Given the description of an element on the screen output the (x, y) to click on. 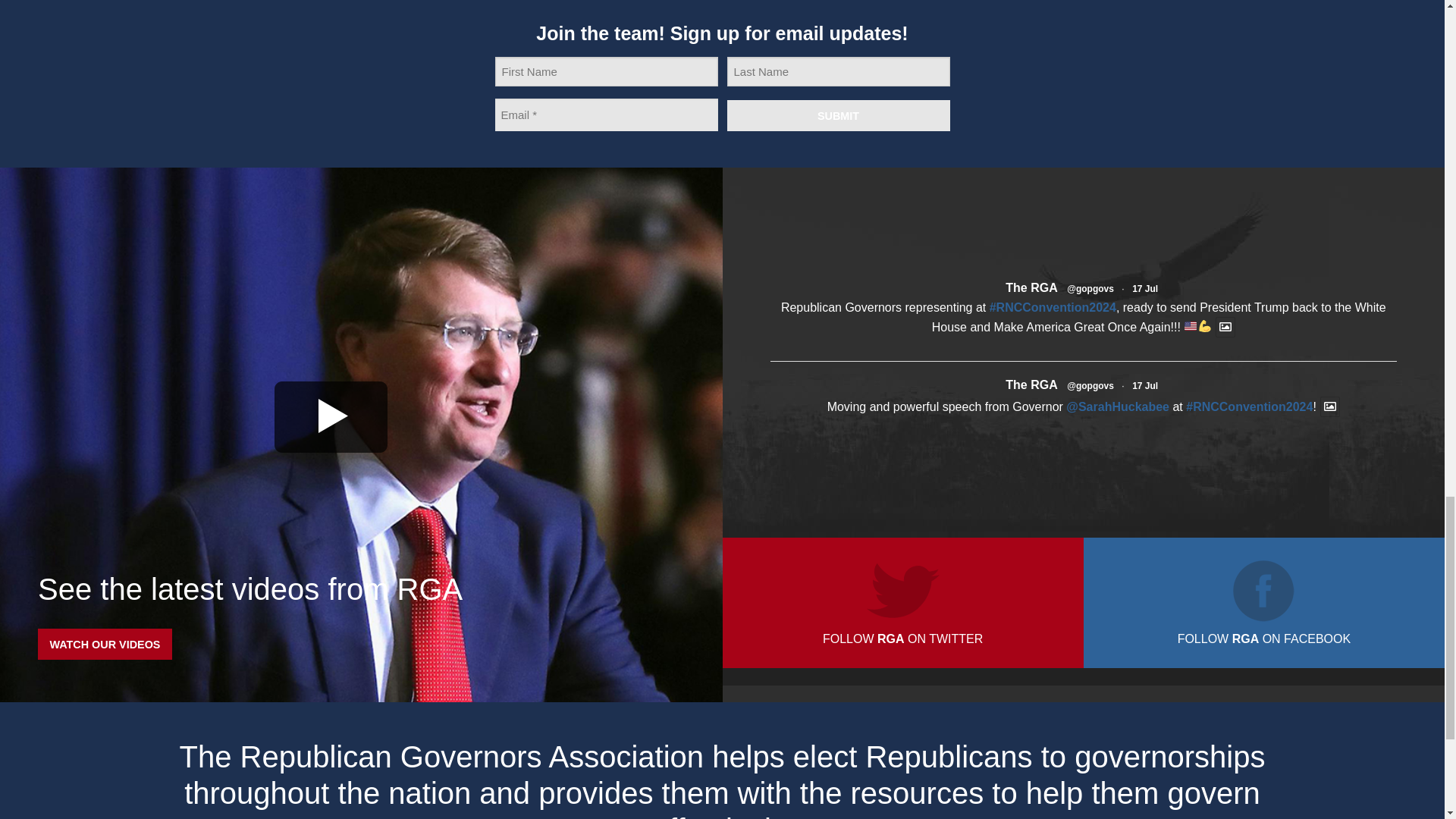
Submit (837, 115)
